Given the description of an element on the screen output the (x, y) to click on. 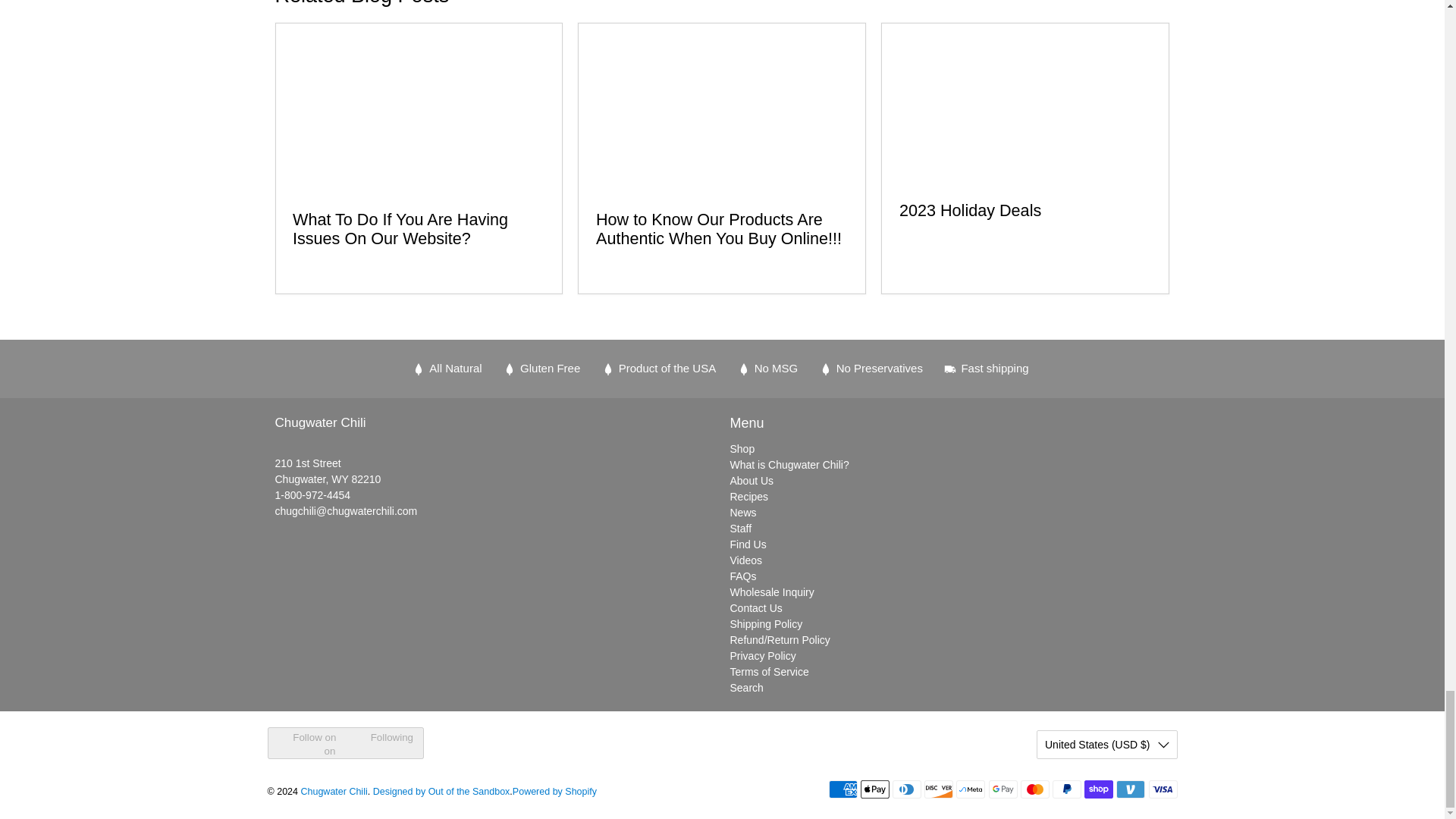
Apple Pay (874, 789)
American Express (842, 789)
Diners Club (906, 789)
